Given the description of an element on the screen output the (x, y) to click on. 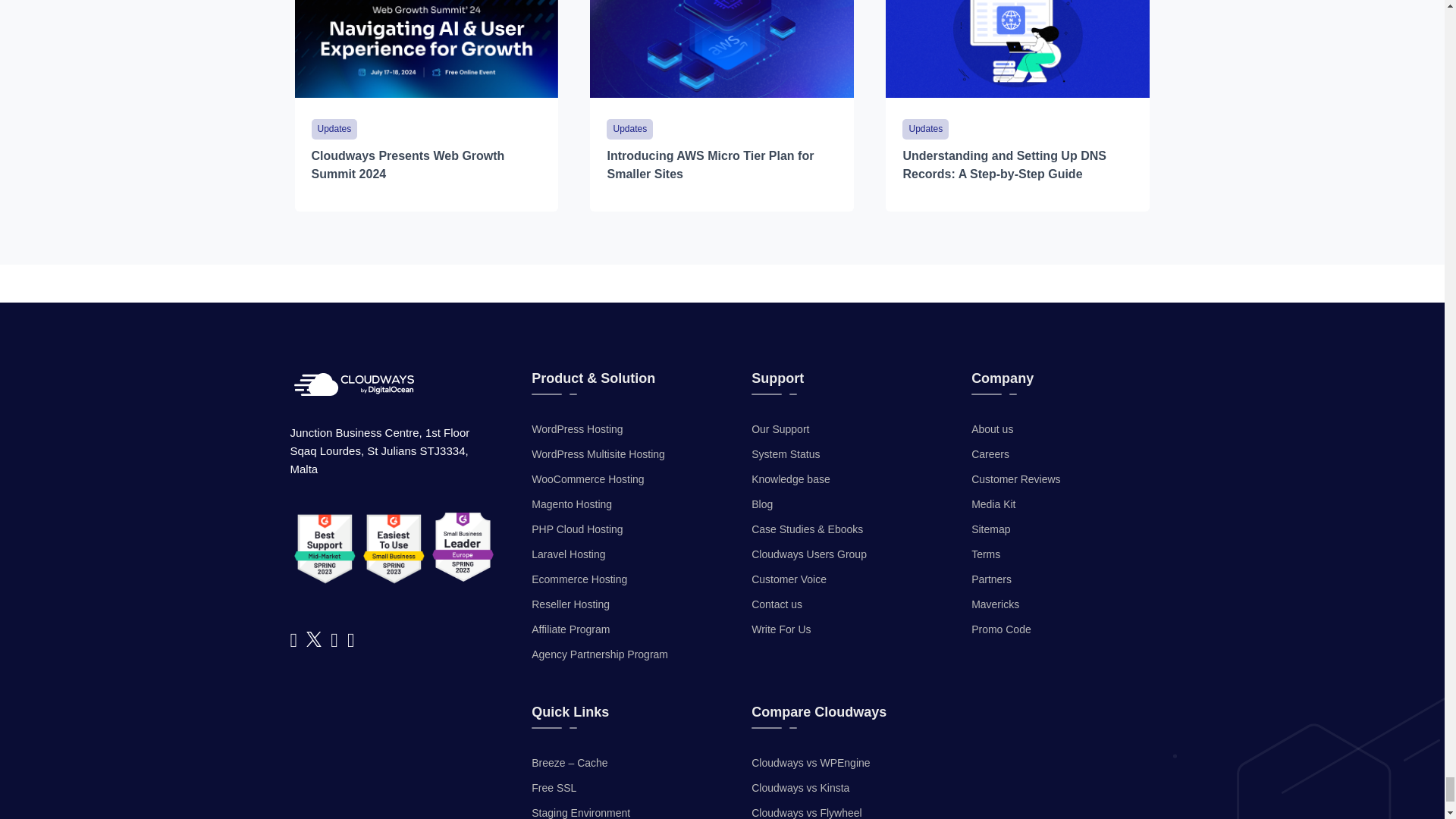
Knowledge base (790, 479)
Magento Hosting (571, 504)
Cloudways is a leader in WebOps Platforms on G2 (462, 546)
Wordpress Hosting (577, 429)
 Contact us (776, 604)
